Given the description of an element on the screen output the (x, y) to click on. 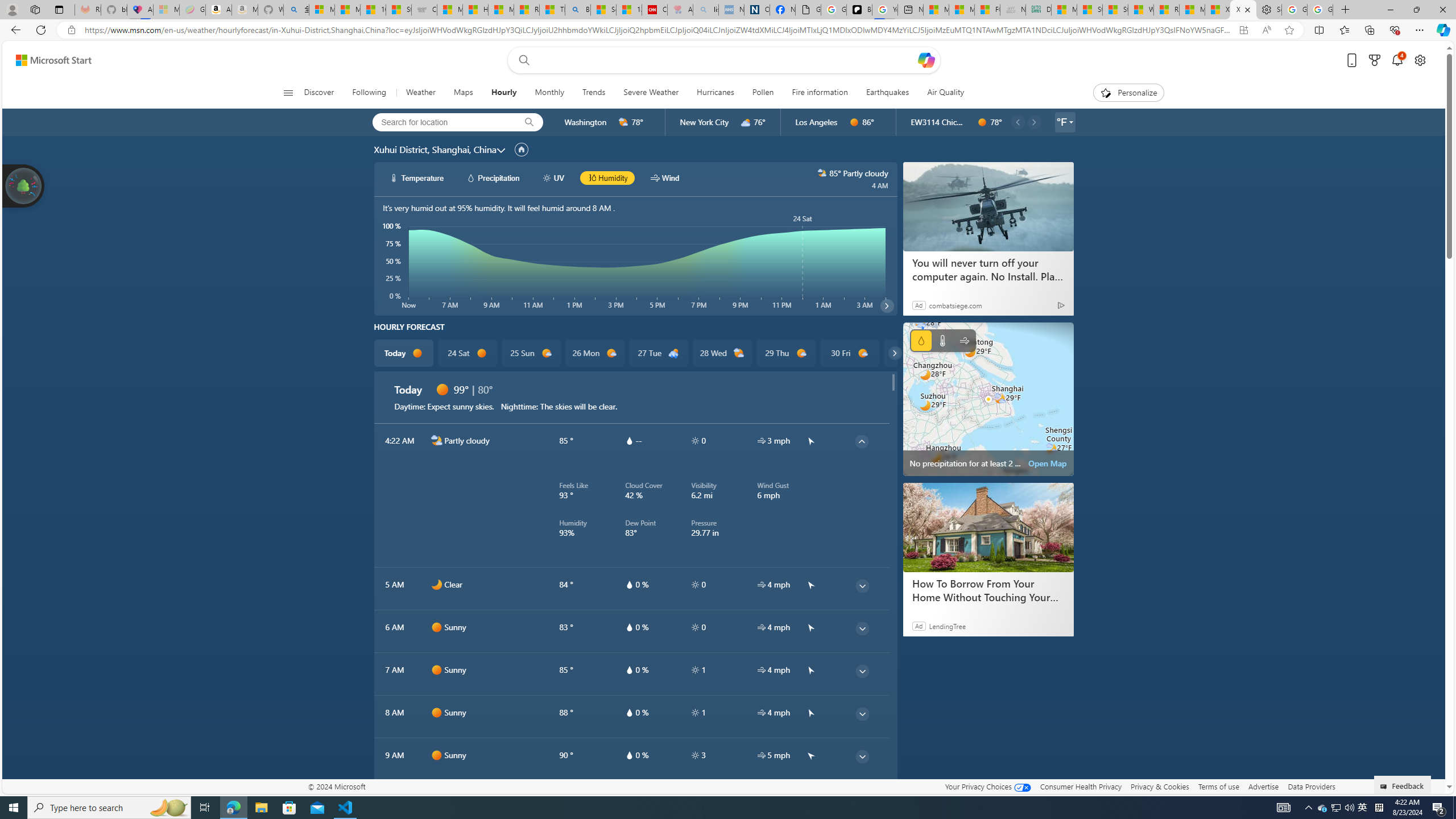
Xuhui District, Shanghai, China (435, 149)
d2000 (738, 353)
hourlyTable/uv (694, 755)
Bing (577, 9)
locationBar/search (529, 121)
28 Wed d2000 (721, 352)
Monthly (549, 92)
